Given the description of an element on the screen output the (x, y) to click on. 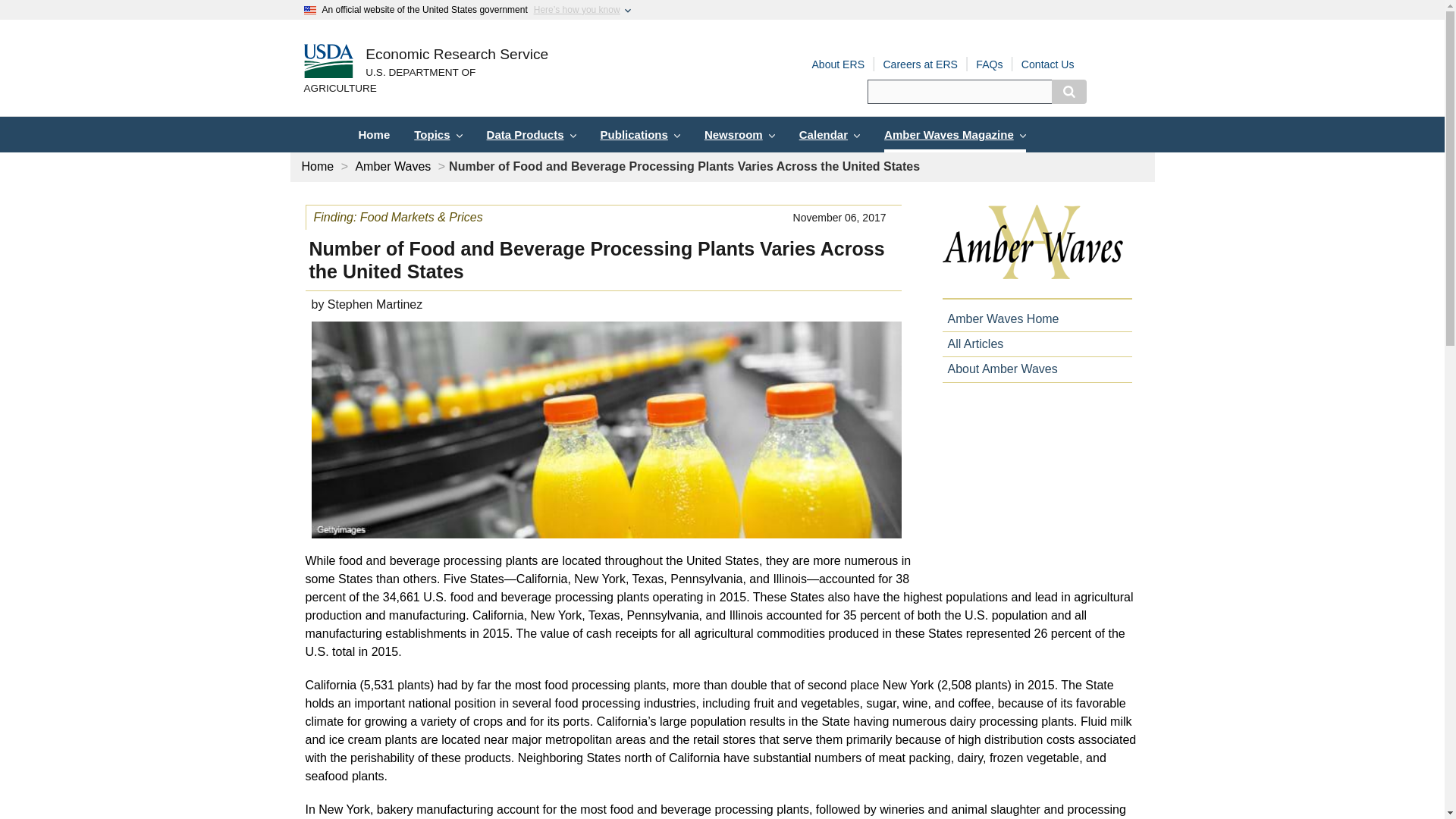
USDA.gov (425, 81)
Careers at ERS (920, 63)
U.S. DEPARTMENT OF AGRICULTURE (425, 81)
Data Products (531, 134)
All Articles (972, 343)
Newsroom (740, 134)
Home (373, 134)
About Amber Waves (999, 368)
Calendar (829, 134)
Publications (640, 134)
